Given the description of an element on the screen output the (x, y) to click on. 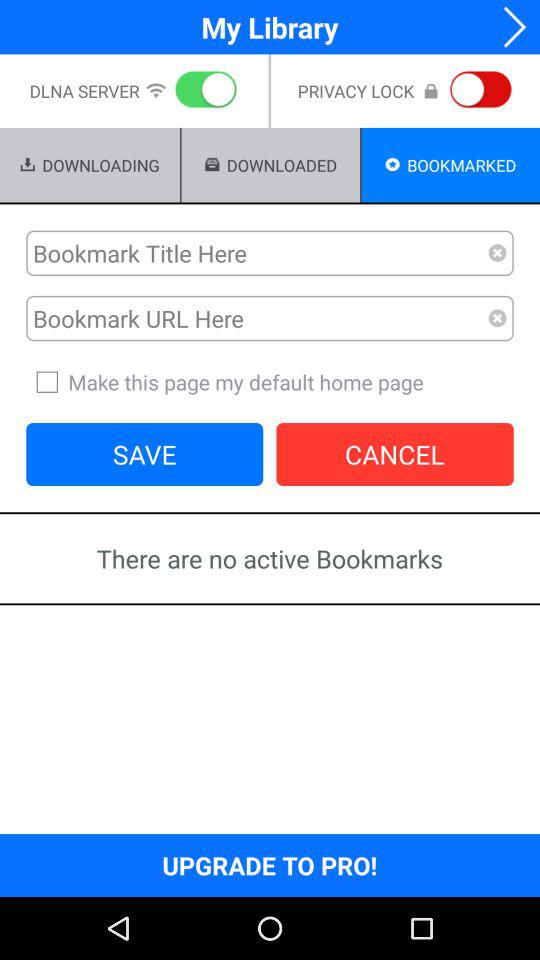
switch lock on (477, 91)
